Given the description of an element on the screen output the (x, y) to click on. 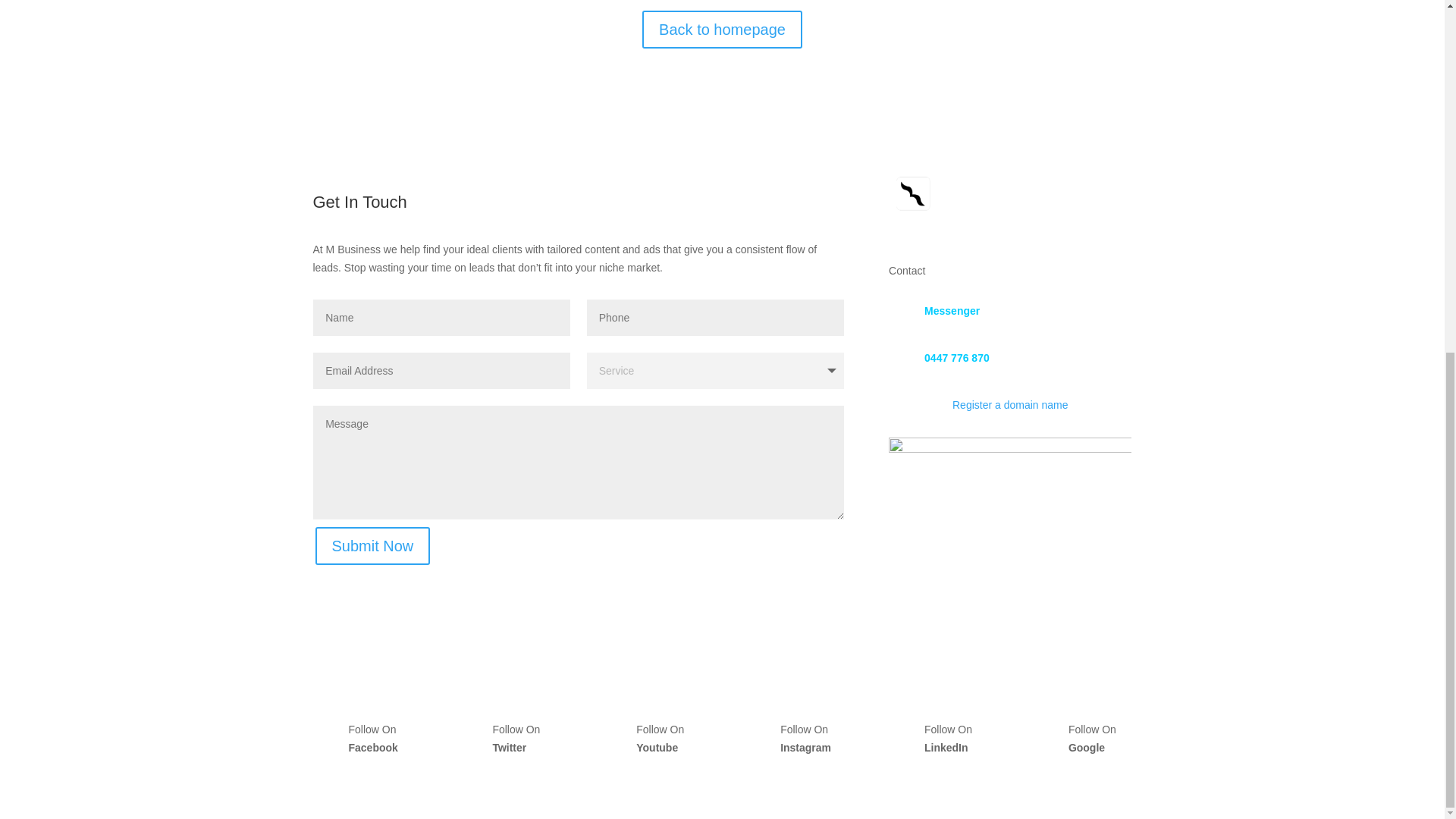
Submit Now (372, 546)
Messenger (951, 310)
0447 776 870 (957, 357)
Register a domain name (1010, 404)
Back to homepage (722, 29)
WhatsApp Image 2024-06-17 at 1.05.49 PM (1009, 558)
mbusiness (1009, 205)
